Given the description of an element on the screen output the (x, y) to click on. 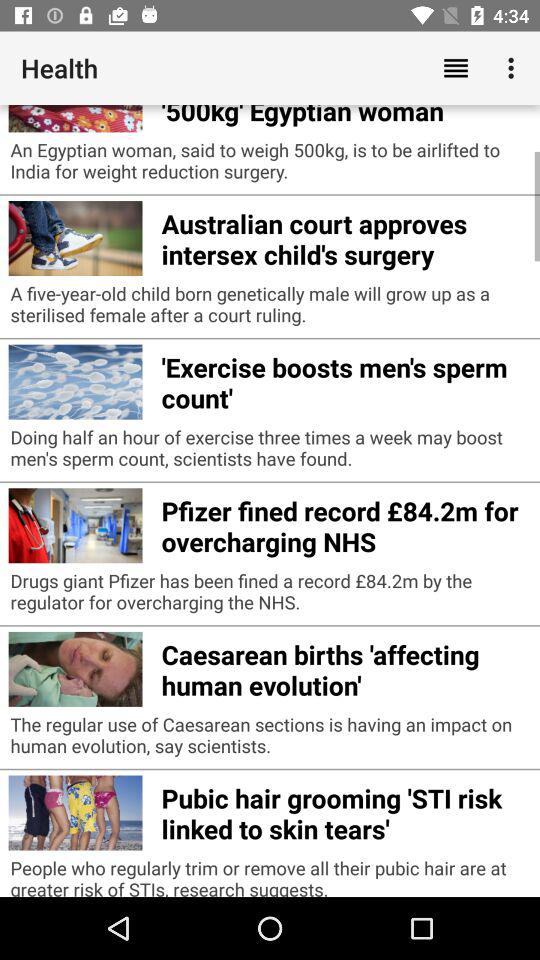
choose icon above the a five year icon (345, 236)
